Given the description of an element on the screen output the (x, y) to click on. 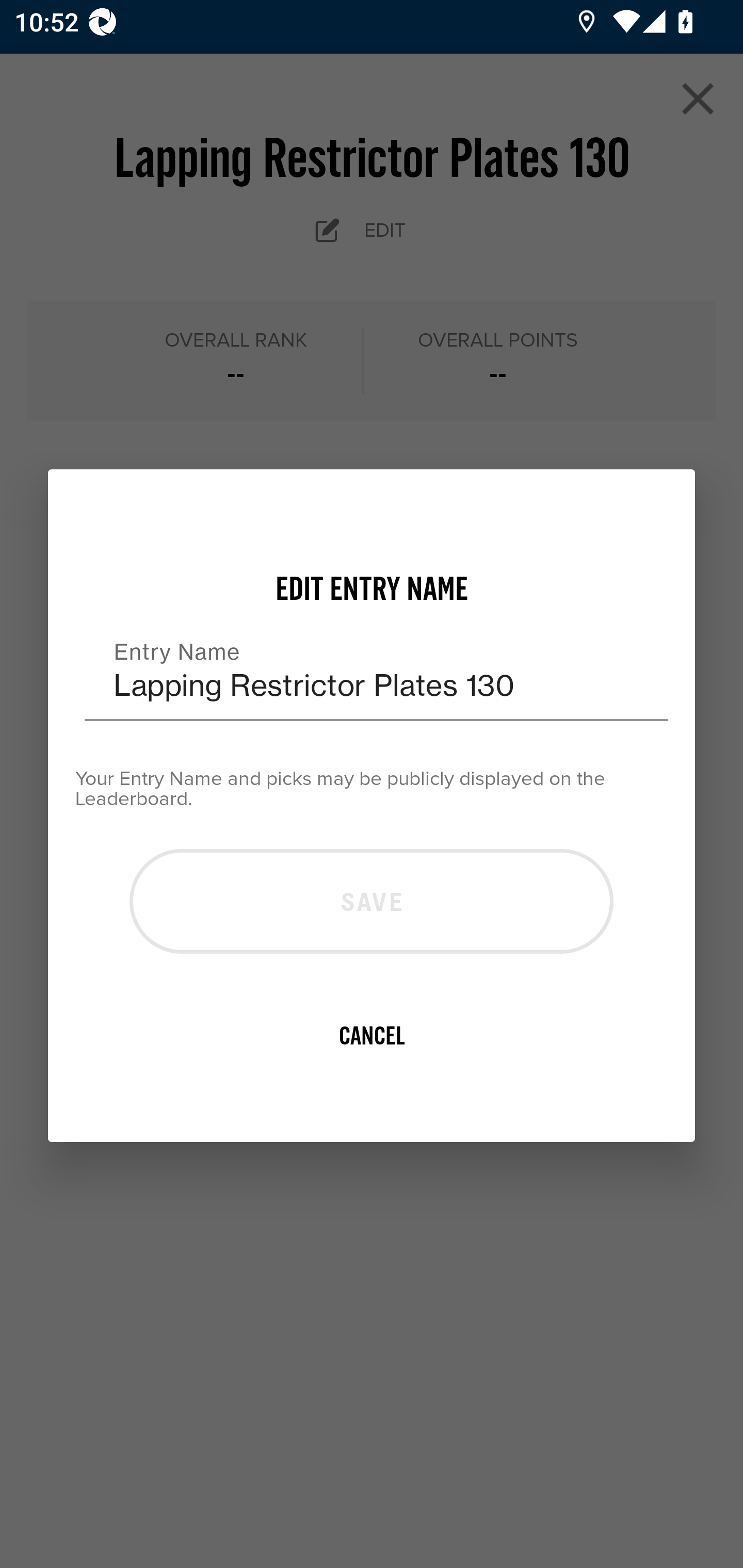
Lapping Restrictor Plates 130 (375, 672)
SAVE (371, 901)
CANCEL (371, 1035)
